Given the description of an element on the screen output the (x, y) to click on. 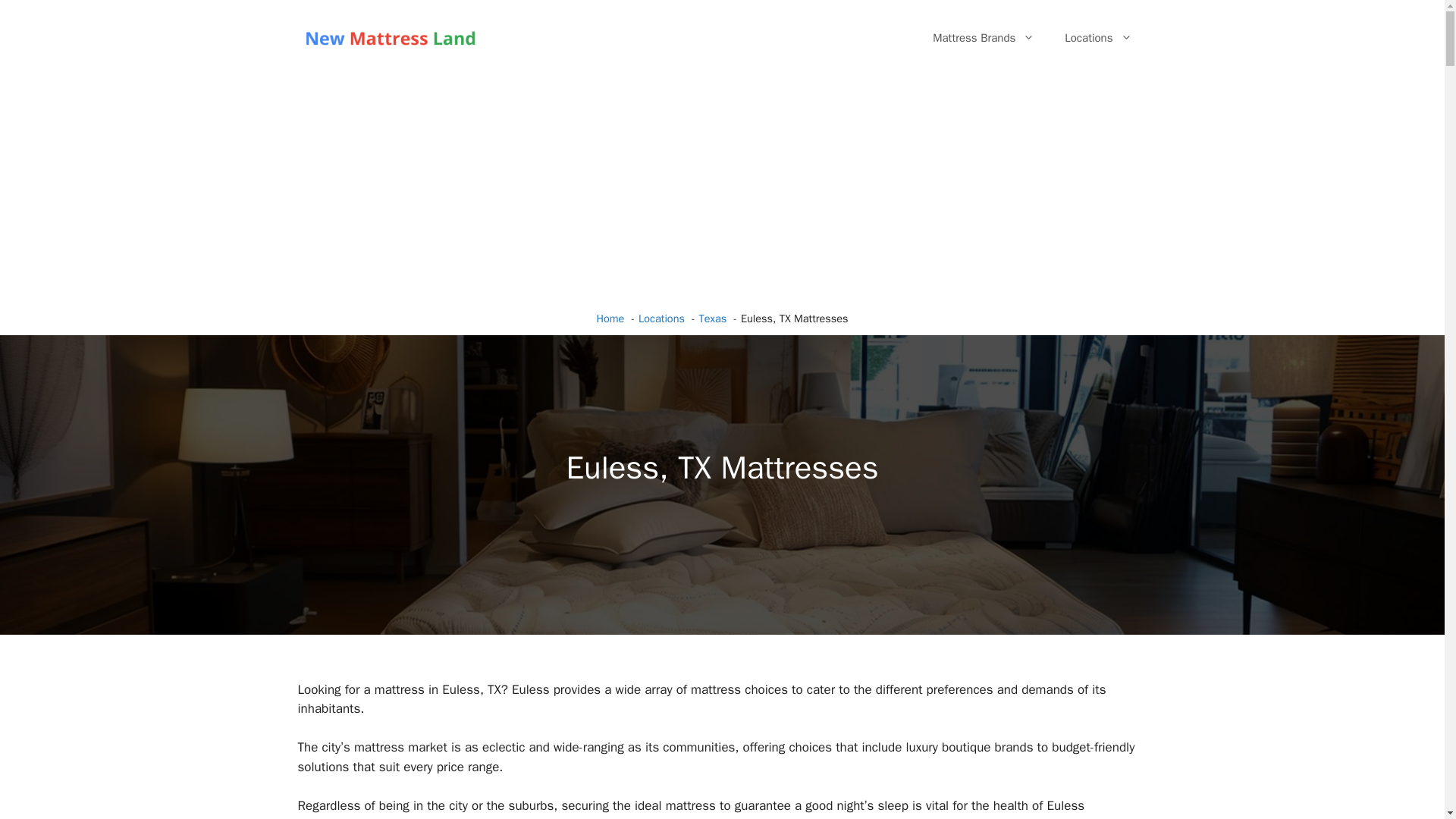
Mattress Brands (983, 37)
Locations (1098, 37)
